Given the description of an element on the screen output the (x, y) to click on. 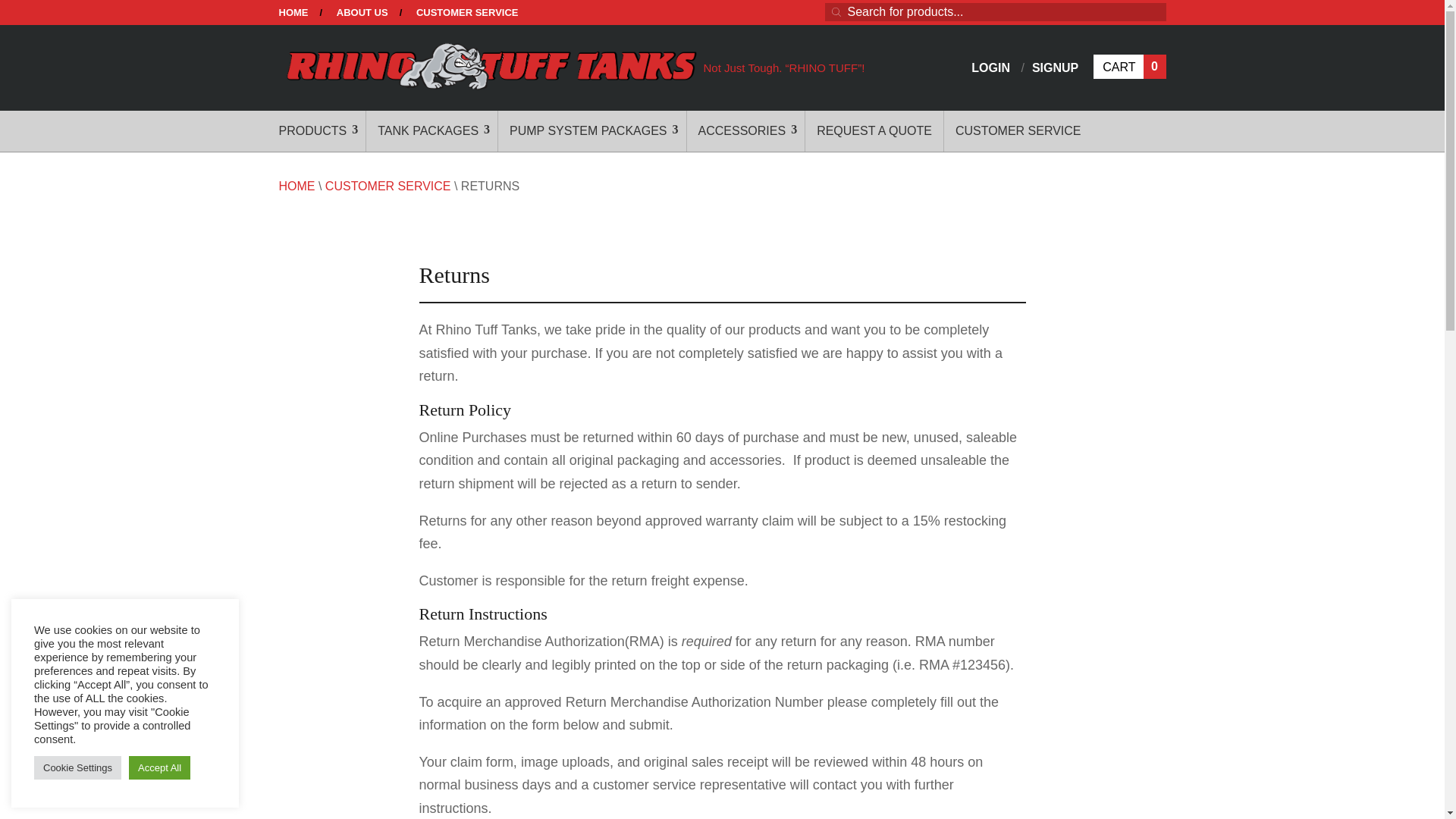
CUSTOMER SERVICE (1018, 130)
PUMP SYSTEM PACKAGES (591, 130)
CUSTOMER SERVICE (467, 16)
SIGNUP (1055, 66)
TANK PACKAGES (431, 130)
REQUEST A QUOTE (874, 130)
PRODUCTS (322, 130)
LOGIN (1129, 66)
ACCESSORIES (992, 66)
HOME (746, 130)
ABOUT US (293, 16)
